Given the description of an element on the screen output the (x, y) to click on. 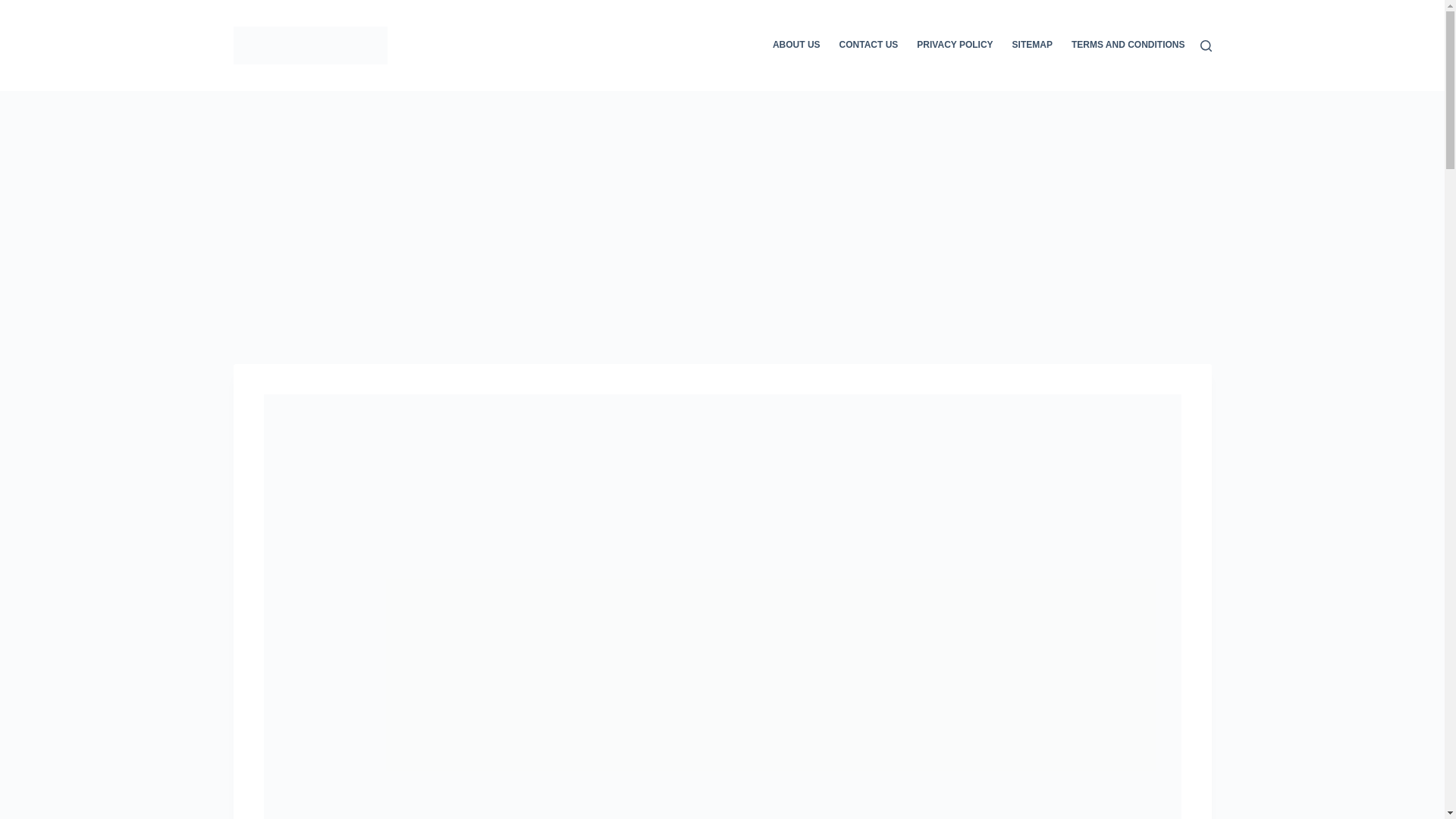
TERMS AND CONDITIONS (1123, 45)
PRIVACY POLICY (955, 45)
Skip to content (15, 7)
